Given the description of an element on the screen output the (x, y) to click on. 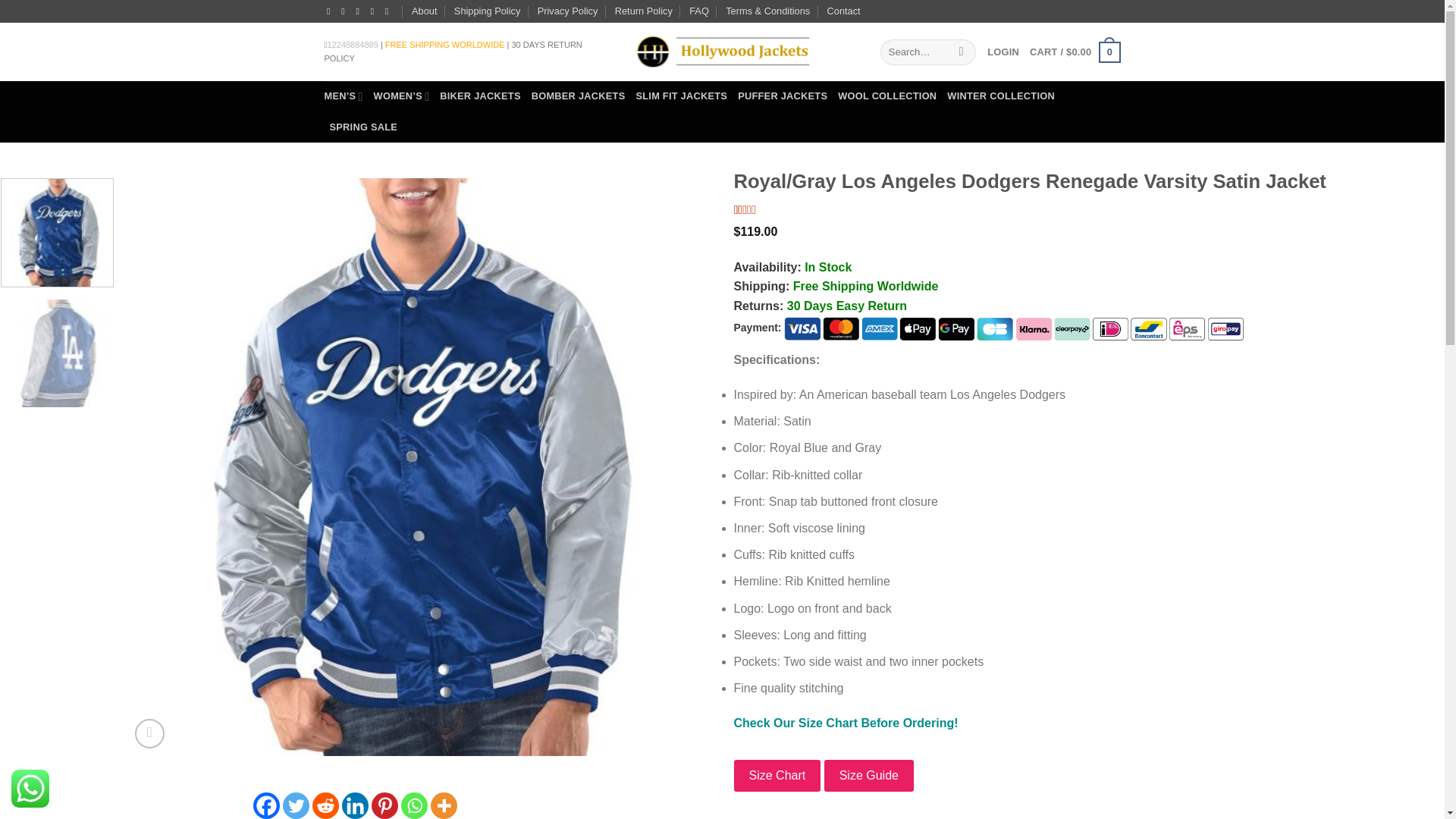
12248884889 (352, 44)
Facebook (266, 805)
Pinterest (384, 805)
Twitter (295, 805)
Cart (1074, 52)
Hollywood Jackets - Hollywood Jackets (721, 52)
Privacy Policy (567, 11)
Return Policy (643, 11)
Contact (843, 11)
